Given the description of an element on the screen output the (x, y) to click on. 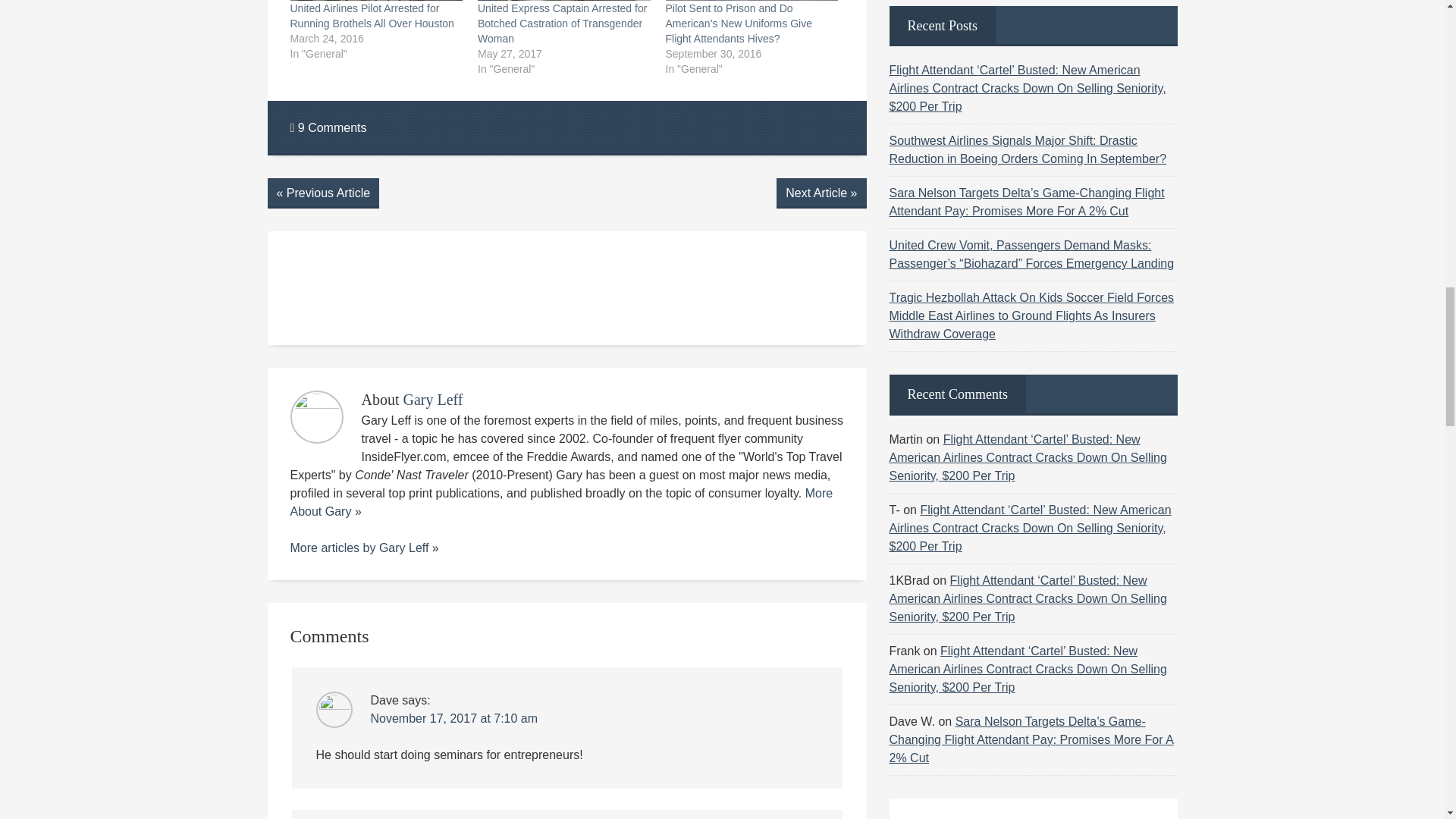
9 Comments (327, 127)
More articles by (333, 547)
November 17, 2017 at 7:10 am (453, 717)
Gary Leff (433, 399)
Gary Leff (403, 547)
